Given the description of an element on the screen output the (x, y) to click on. 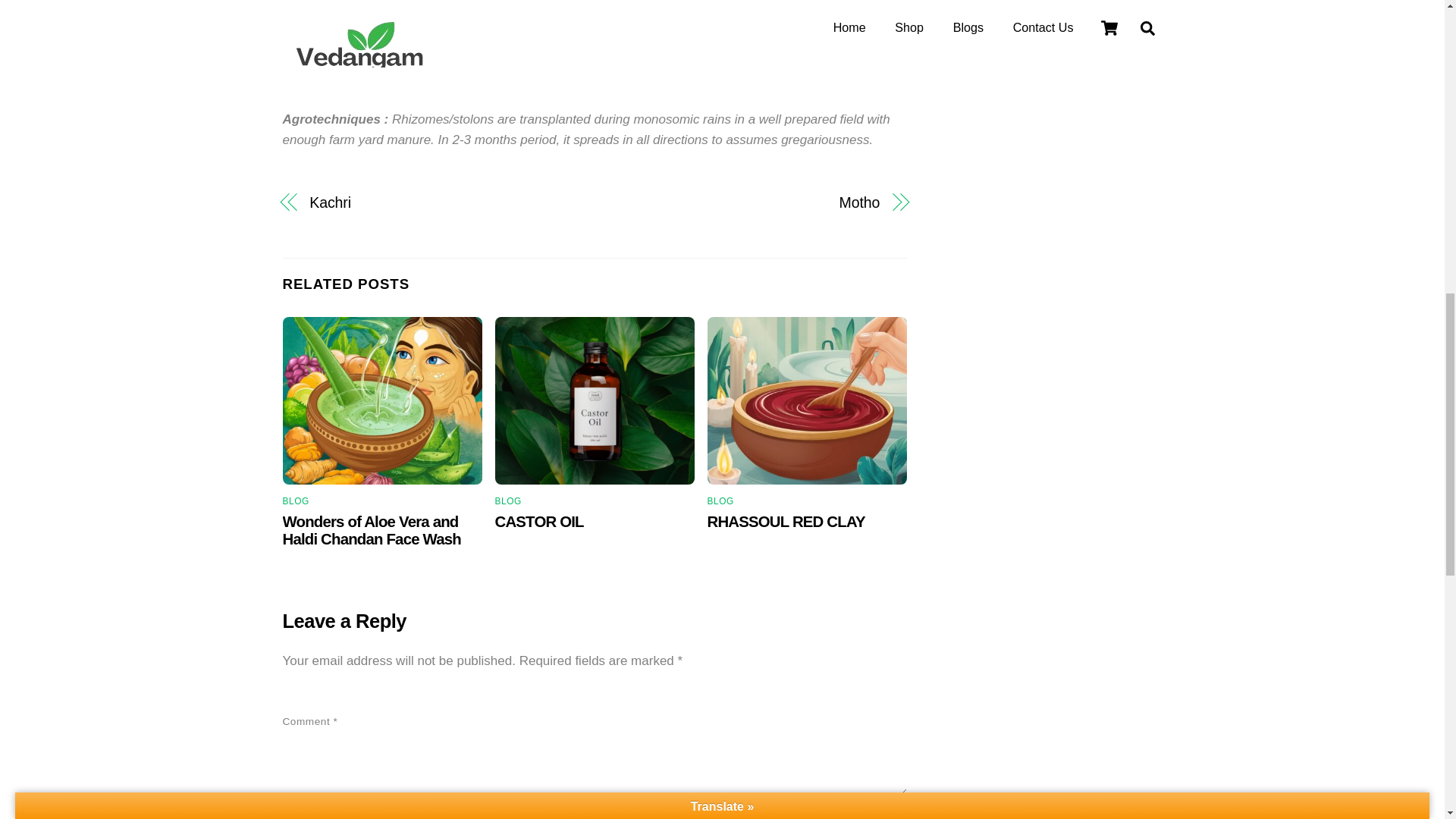
BLOG (295, 501)
Motho (745, 202)
Wonders of Aloe Vera and Haldi Chandan Face Wash (371, 530)
NPUMYp6yTf6KENq23GzzLQ (807, 400)
ALOEVERA HALDI CHANDAN (381, 400)
Screenshot 2024-08-01 142742 (595, 400)
Kachri (441, 202)
